Given the description of an element on the screen output the (x, y) to click on. 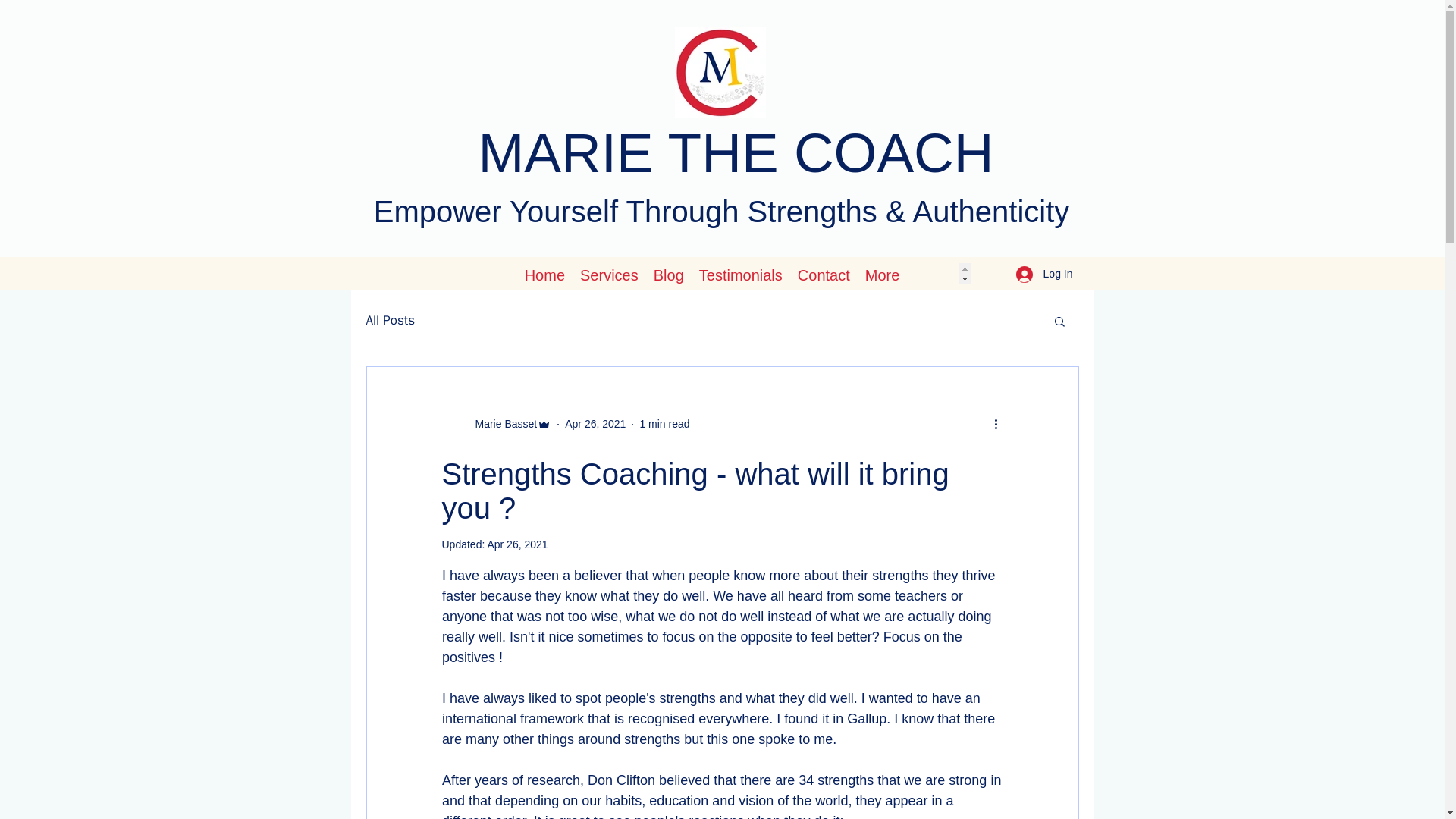
Apr 26, 2021 (595, 423)
1 min read (663, 423)
Services (609, 273)
All Posts (389, 320)
Contact (823, 273)
Home (544, 273)
Blog (668, 273)
Marie Basset (496, 424)
Testimonials (740, 273)
Apr 26, 2021 (516, 544)
